Given the description of an element on the screen output the (x, y) to click on. 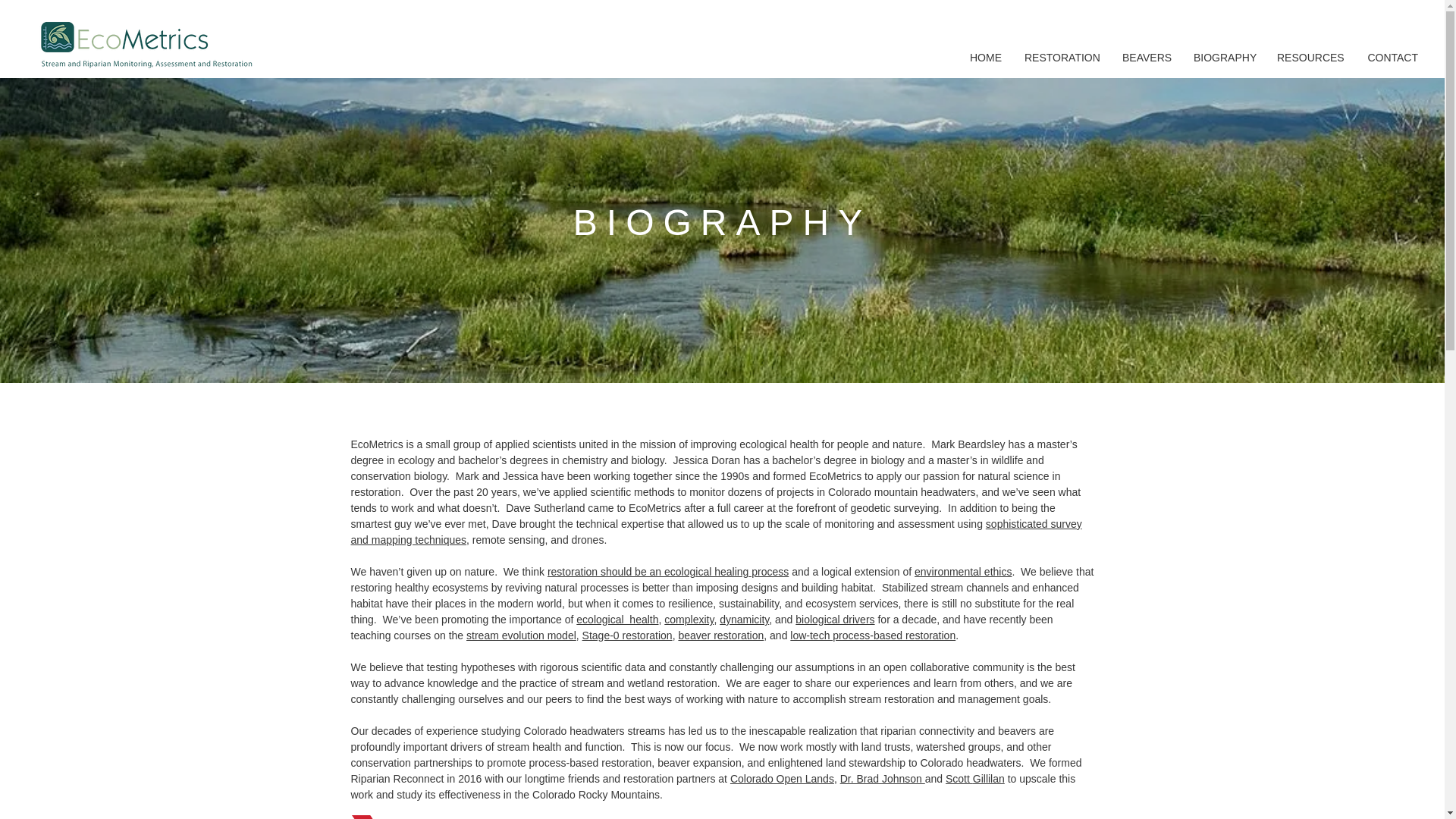
ecological  health (617, 619)
CONTACT (1391, 57)
environmental ethics (962, 571)
Dr. Brad Johnson (882, 778)
dynamicity (743, 619)
Scott (958, 778)
Gillilan (988, 778)
Stage-0 restoration (627, 635)
BIOGRAPHY (1223, 57)
BEAVERS (1146, 57)
beaver restoration (720, 635)
biological drivers (834, 619)
stream evolution model (520, 635)
sophisticated survey and mapping techniques (715, 531)
low-tech process-based restoration (872, 635)
